Given the description of an element on the screen output the (x, y) to click on. 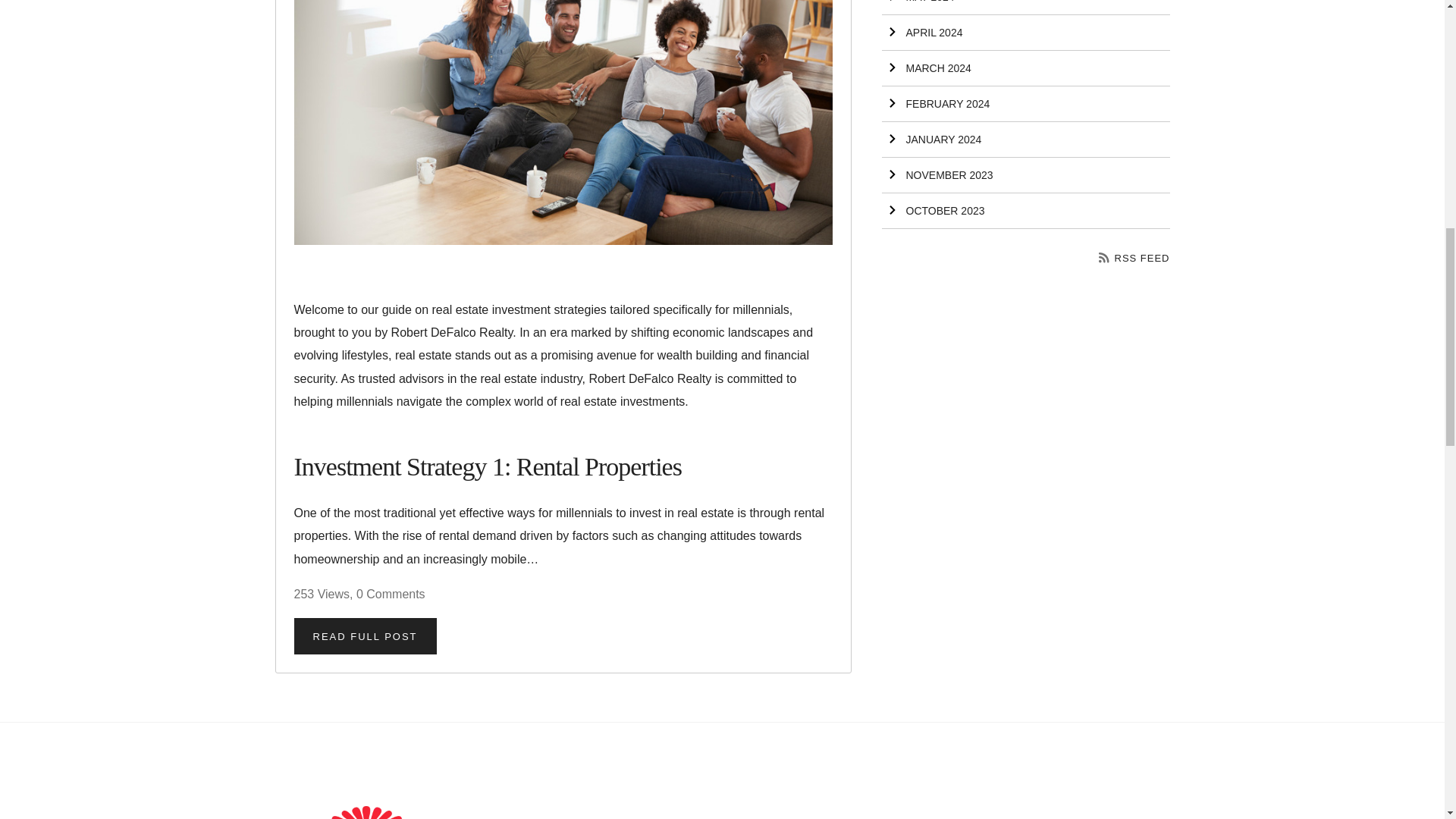
RSS FEED (1134, 257)
